Given the description of an element on the screen output the (x, y) to click on. 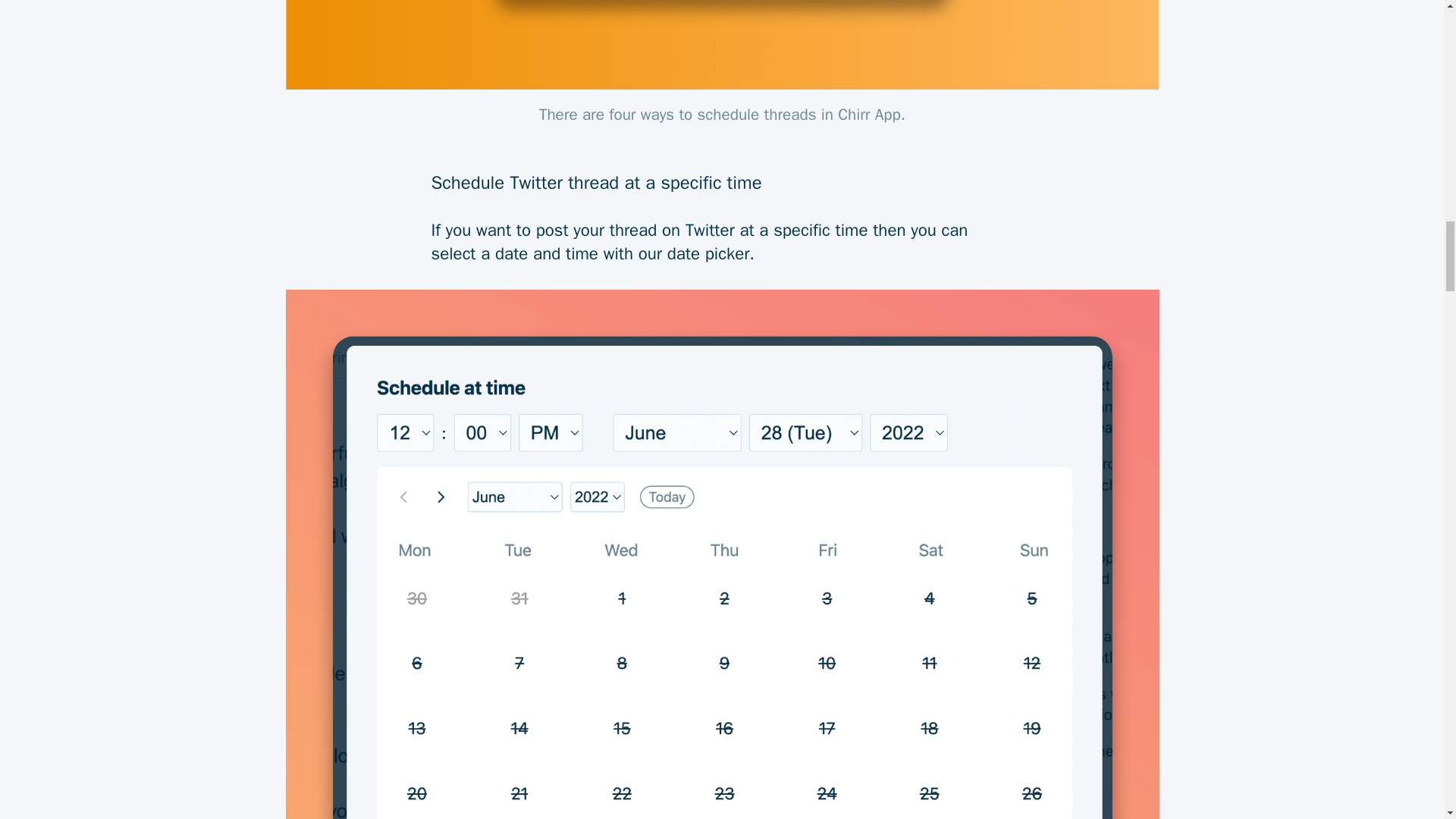
Schedule Twitter thread at a specific time (721, 171)
